Given the description of an element on the screen output the (x, y) to click on. 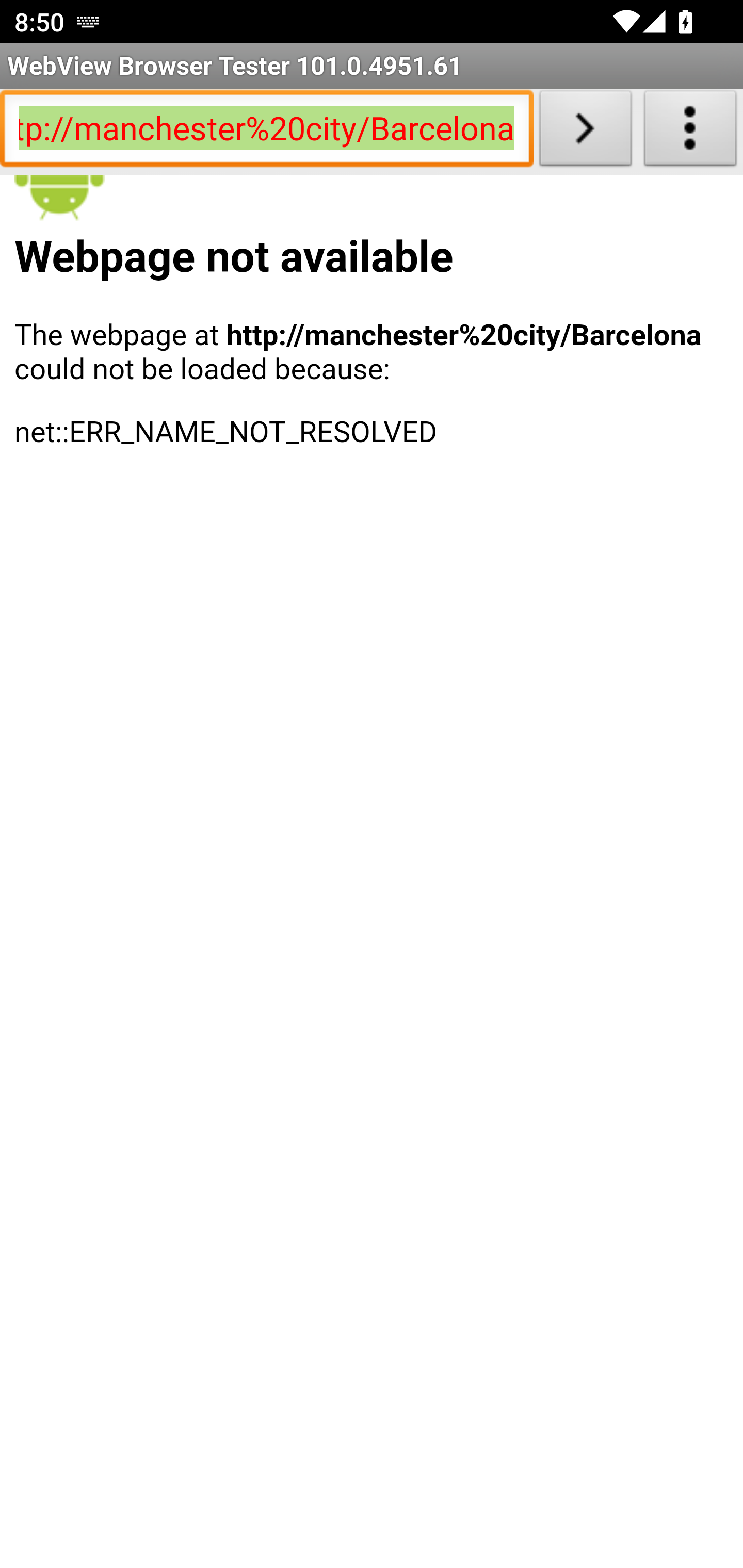
http://manchester%20city/Barcelona (266, 132)
Load URL (585, 132)
About WebView (690, 132)
